Given the description of an element on the screen output the (x, y) to click on. 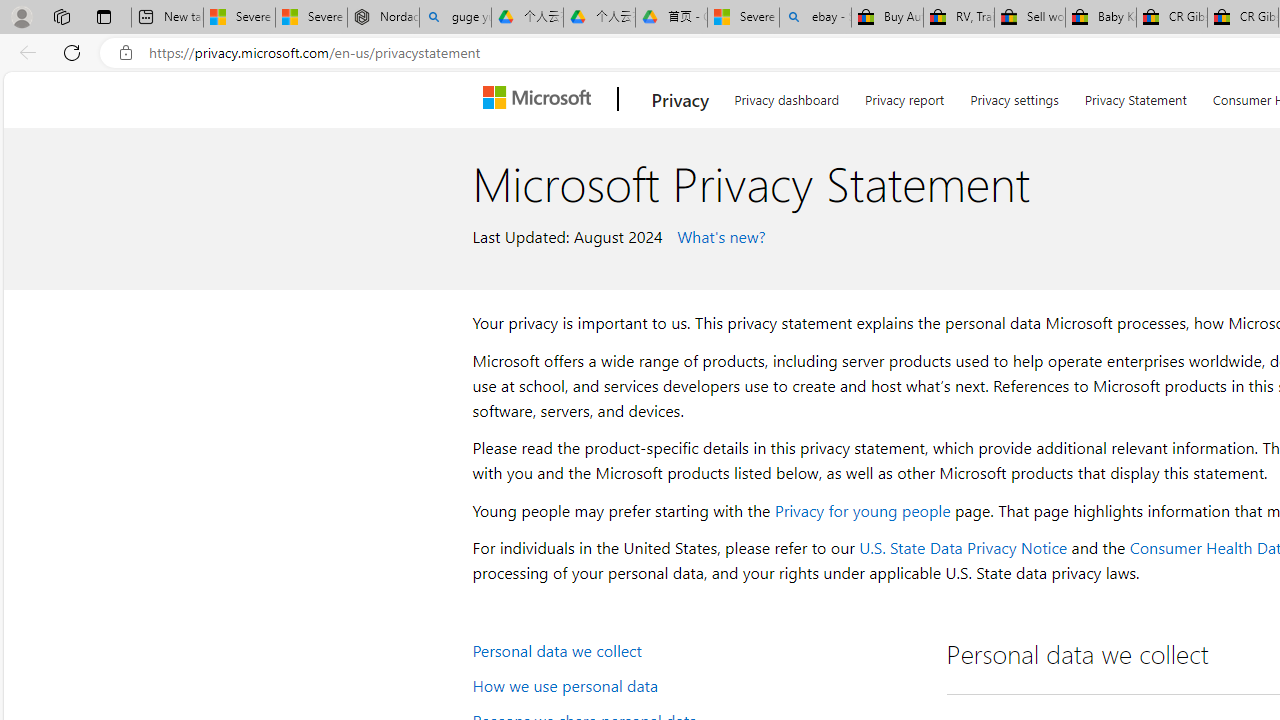
Privacy report (904, 96)
Privacy report (904, 96)
U.S. State Data Privacy Notice (962, 547)
